Given the description of an element on the screen output the (x, y) to click on. 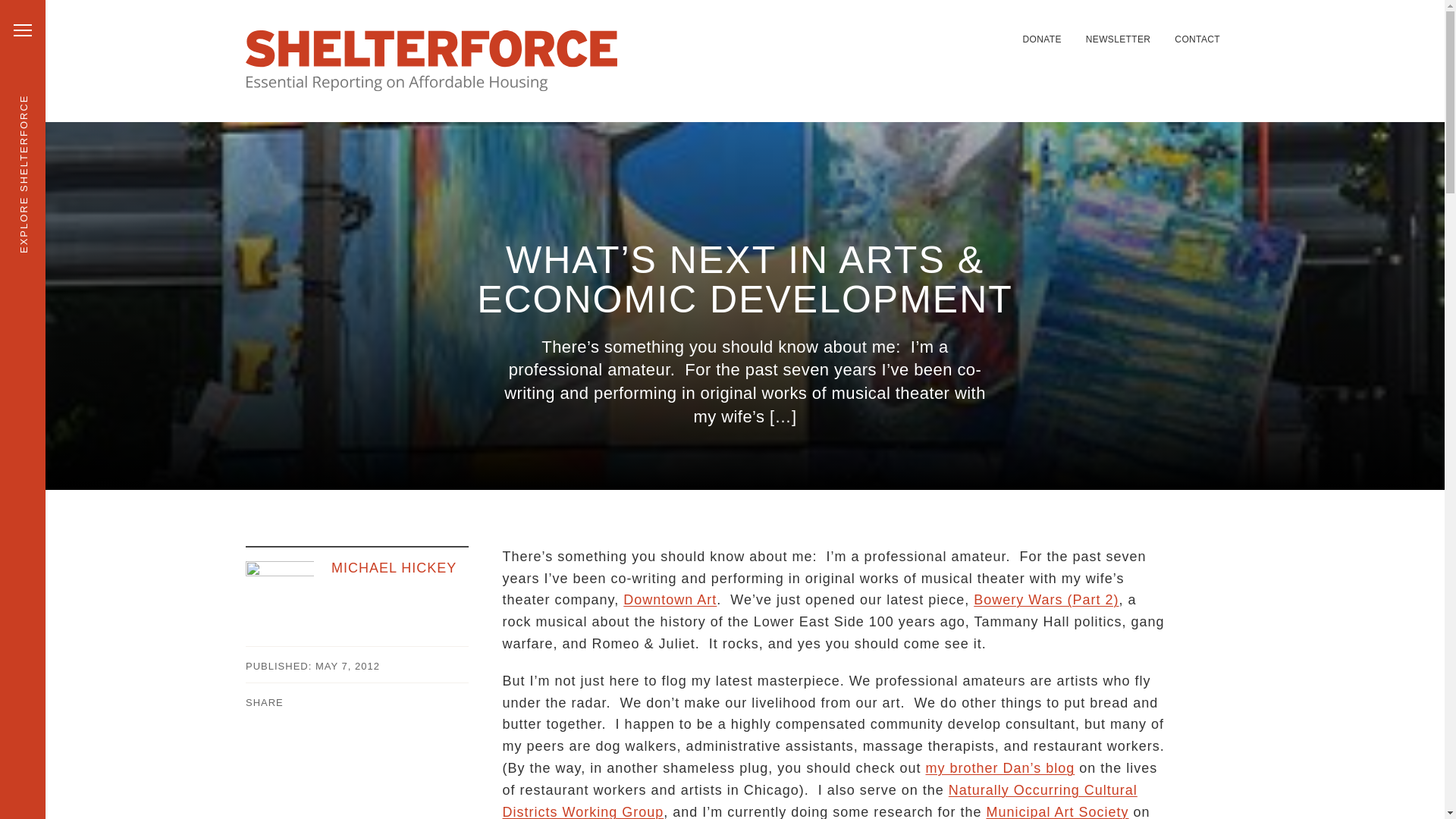
Follow us on Twitter (897, 30)
Follow us on Facebook (933, 30)
Follow us on Soundcloud (969, 30)
NEWSLETTER (1118, 39)
Shelterforce (431, 60)
Follow us on YouTube (988, 30)
Follow us on LinkedIn (915, 30)
Follow us on Spotify (951, 30)
DONATE (1041, 39)
CONTACT (1197, 39)
